Given the description of an element on the screen output the (x, y) to click on. 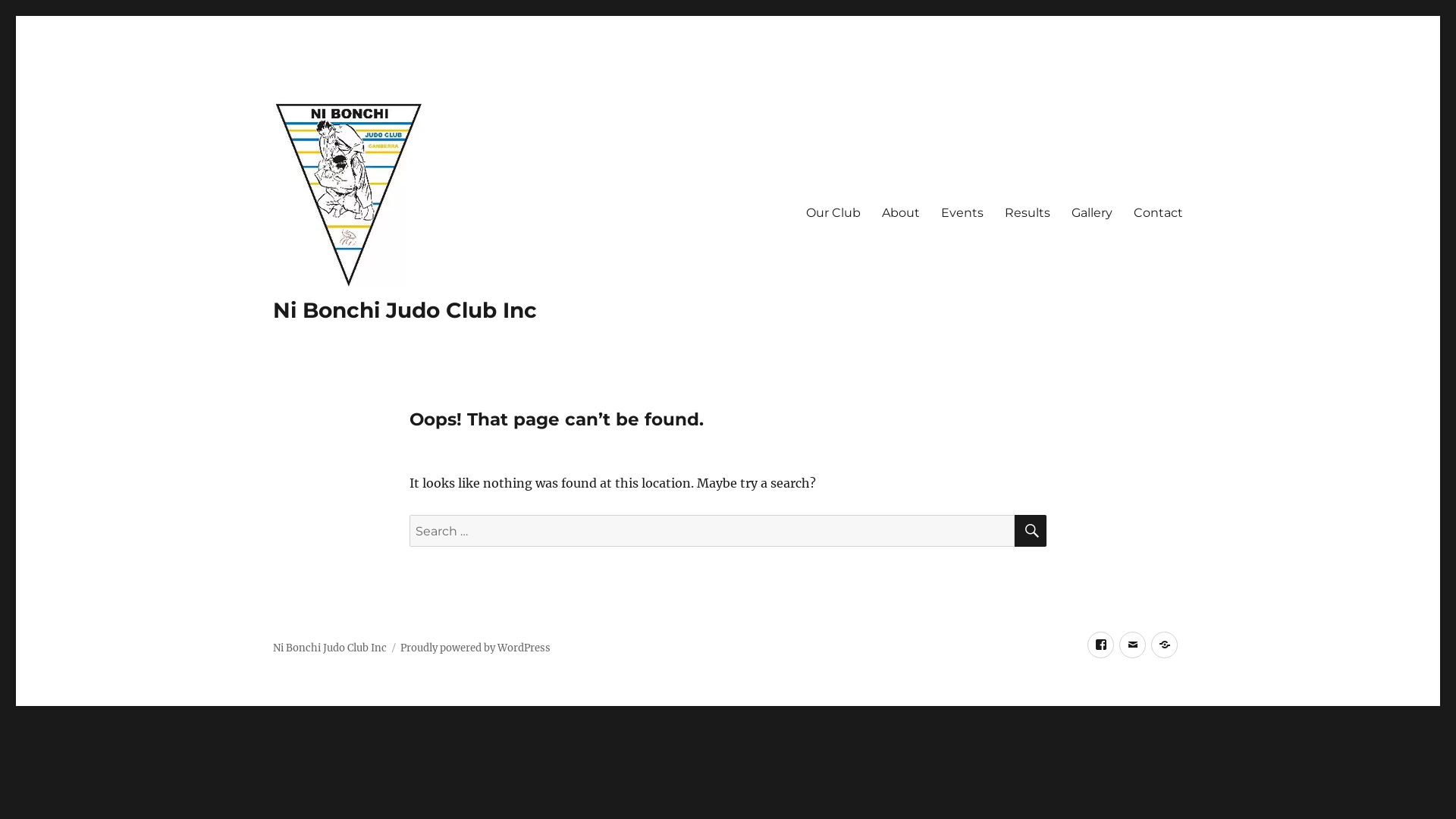
Events Element type: text (962, 212)
Ni Bonchi Judo Club Inc Element type: text (329, 647)
Gallery Element type: text (1091, 212)
Contact Element type: text (1158, 212)
About Element type: text (900, 212)
Proudly powered by WordPress Element type: text (475, 647)
Vikings Club Element type: text (1164, 644)
Our Club Element type: text (833, 212)
Email Element type: text (1132, 644)
SEARCH Element type: text (1030, 530)
Facebook Element type: text (1100, 644)
Results Element type: text (1027, 212)
Ni Bonchi Judo Club Inc Element type: text (404, 310)
